Given the description of an element on the screen output the (x, y) to click on. 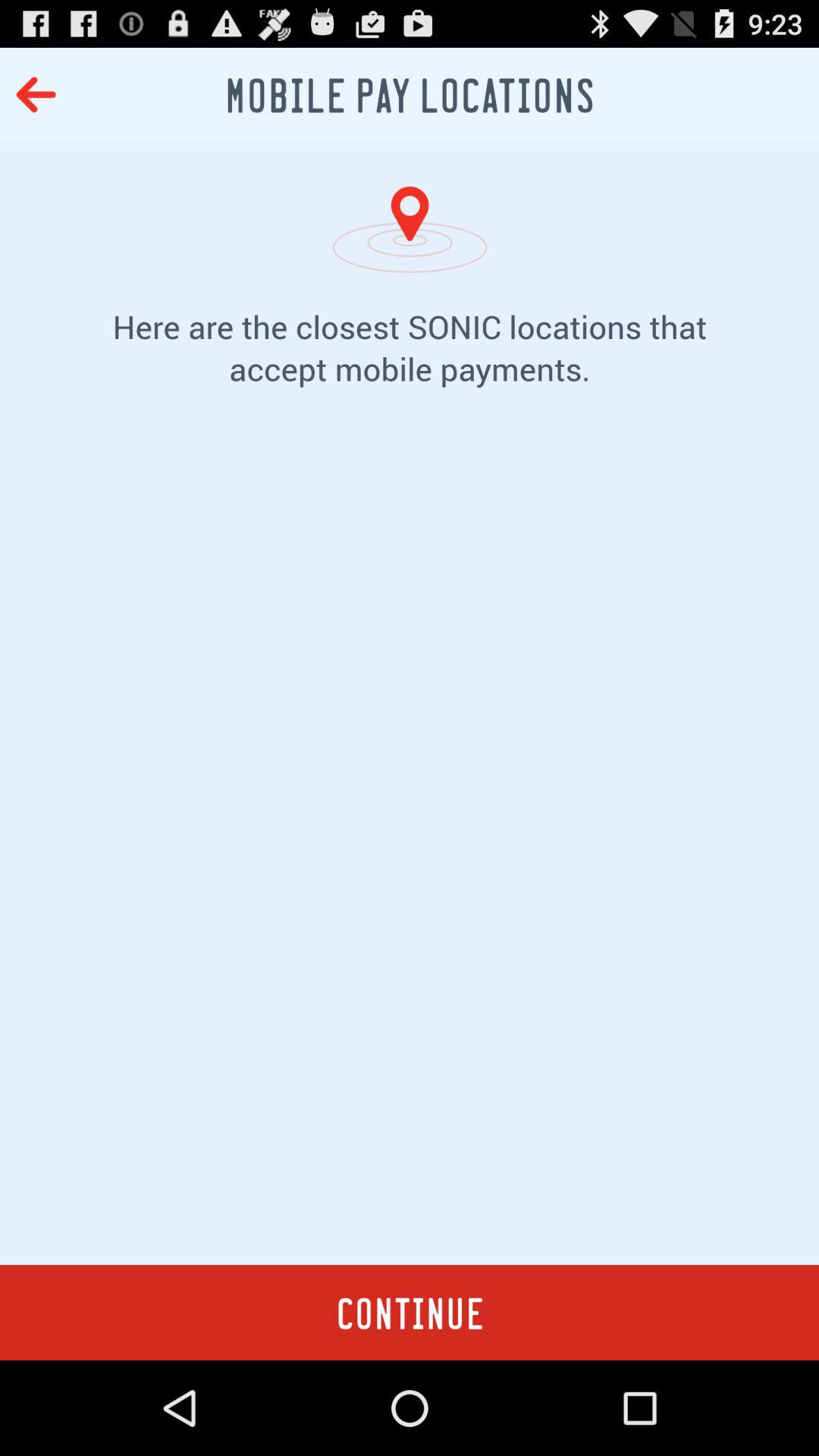
tap the icon at the top left corner (35, 94)
